Given the description of an element on the screen output the (x, y) to click on. 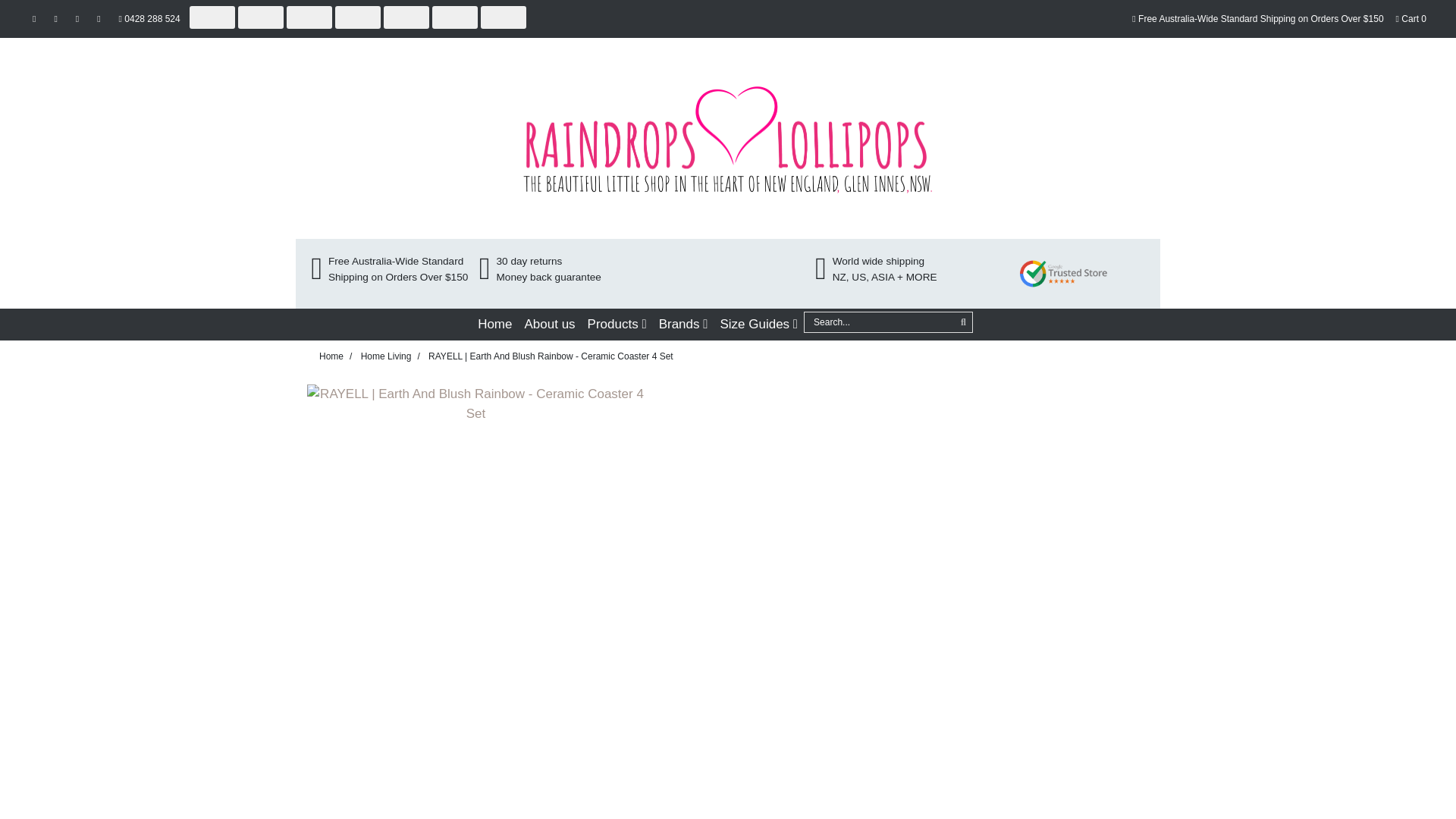
Home (494, 324)
Products (616, 324)
About us (549, 324)
0428 288 524 (149, 18)
Cart 0 (1411, 18)
